Given the description of an element on the screen output the (x, y) to click on. 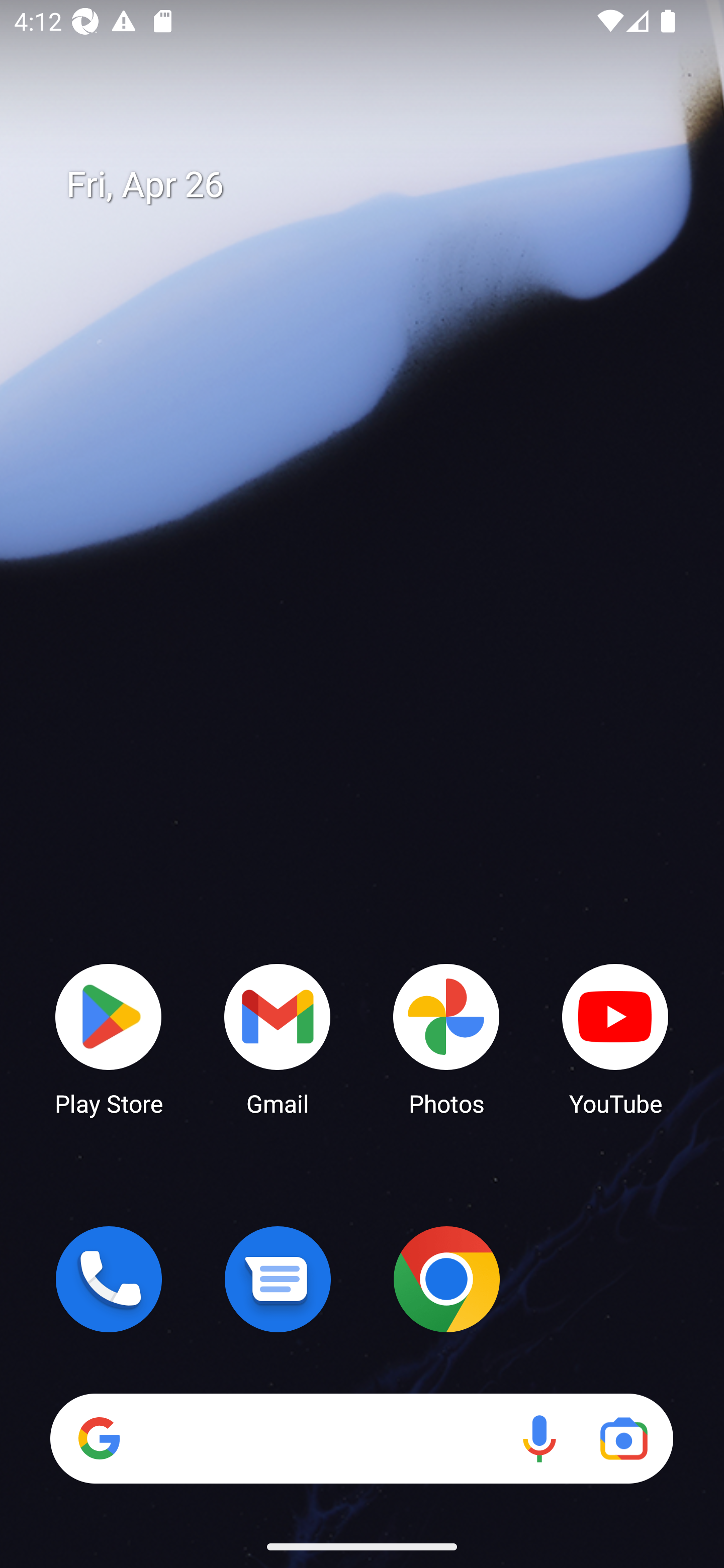
Fri, Apr 26 (375, 184)
Play Store (108, 1038)
Gmail (277, 1038)
Photos (445, 1038)
YouTube (615, 1038)
Phone (108, 1279)
Messages (277, 1279)
Chrome (446, 1279)
Search Voice search Google Lens (361, 1438)
Voice search (539, 1438)
Google Lens (623, 1438)
